Given the description of an element on the screen output the (x, y) to click on. 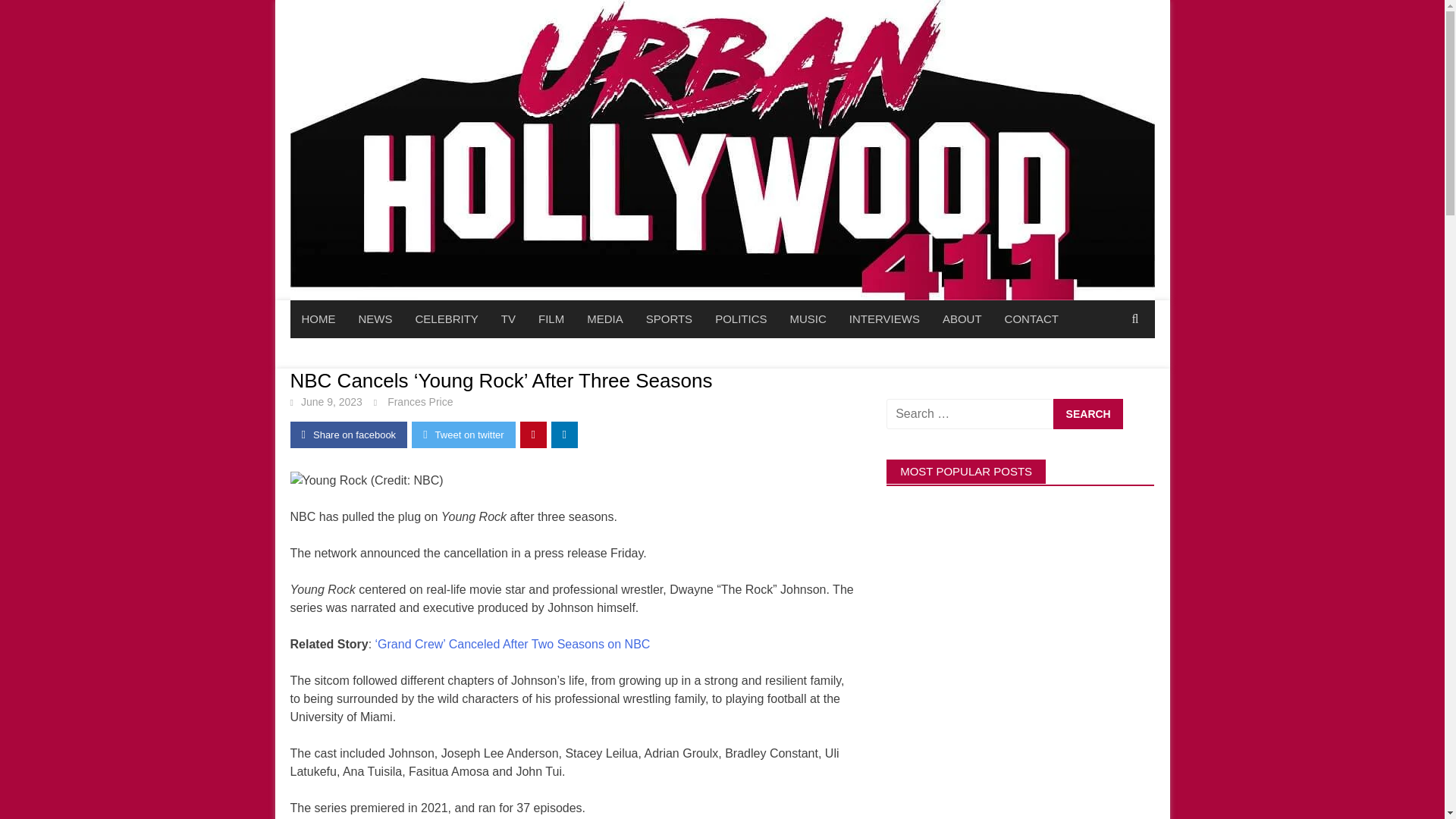
INTERVIEWS (884, 319)
CELEBRITY (446, 319)
ABOUT (961, 319)
Frances Price (419, 401)
FILM (551, 319)
MUSIC (807, 319)
TV (508, 319)
Tweet on twitter (463, 434)
HOME (317, 319)
CONTACT (1031, 319)
